Given the description of an element on the screen output the (x, y) to click on. 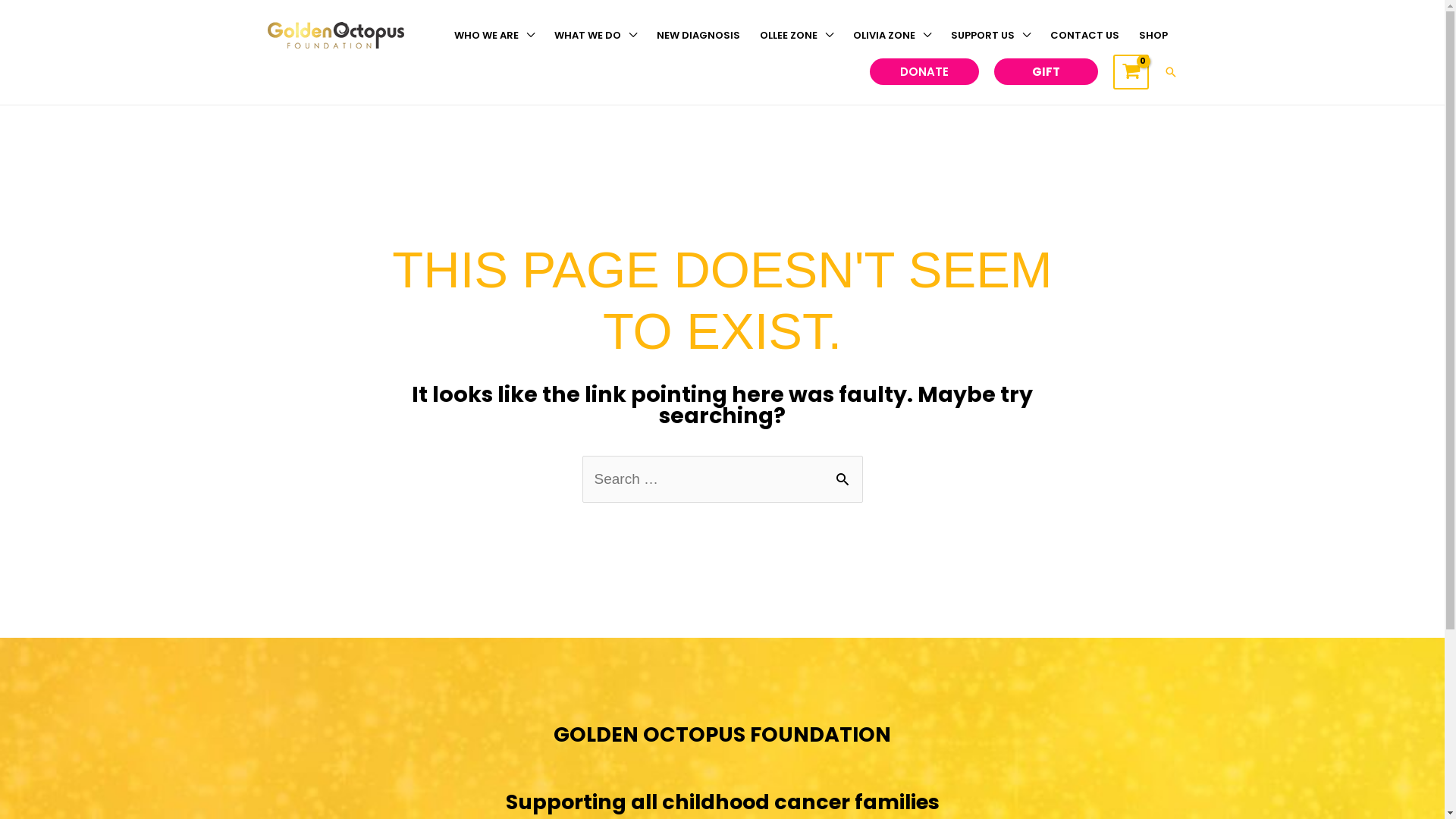
WHO WE ARE Element type: text (494, 35)
Search Element type: text (845, 470)
SHOP Element type: text (1152, 35)
OLIVIA ZONE Element type: text (892, 35)
DONATE Element type: text (924, 71)
Search Element type: text (1169, 71)
WHAT WE DO Element type: text (595, 35)
GIFT Element type: text (1046, 71)
CONTACT US Element type: text (1084, 35)
OLLEE ZONE Element type: text (795, 35)
NEW DIAGNOSIS Element type: text (697, 35)
SUPPORT US Element type: text (989, 35)
